Given the description of an element on the screen output the (x, y) to click on. 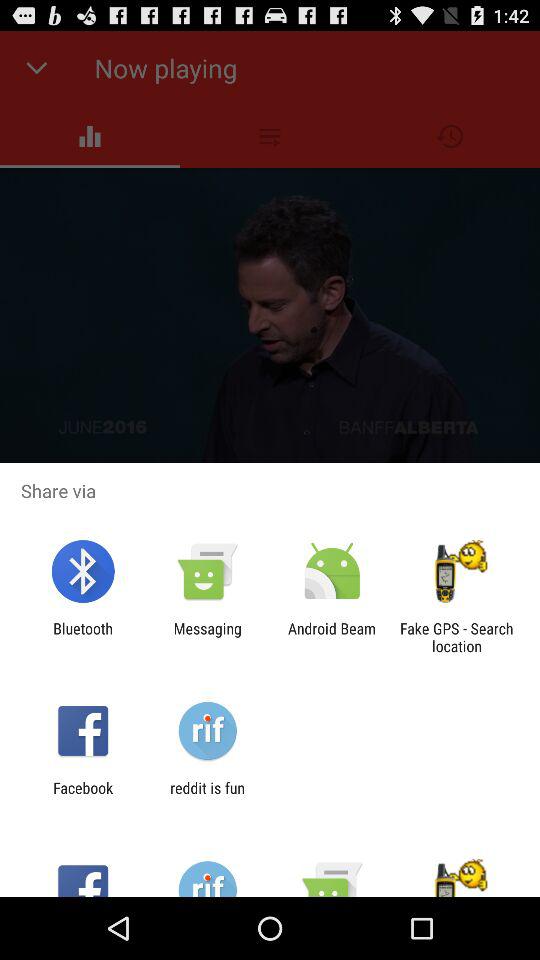
scroll until fake gps search icon (456, 637)
